Given the description of an element on the screen output the (x, y) to click on. 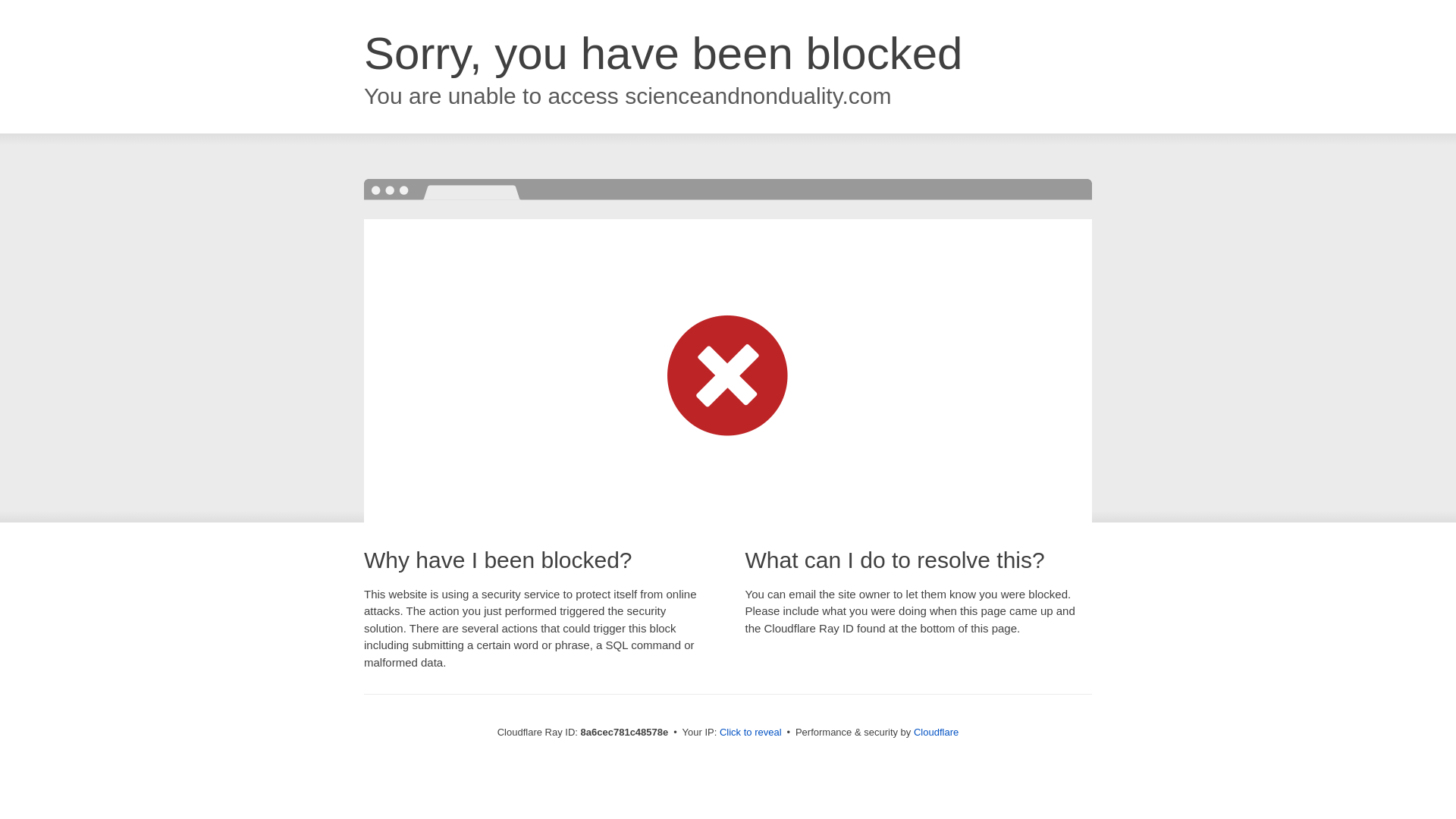
Cloudflare (936, 731)
Click to reveal (750, 732)
